Given the description of an element on the screen output the (x, y) to click on. 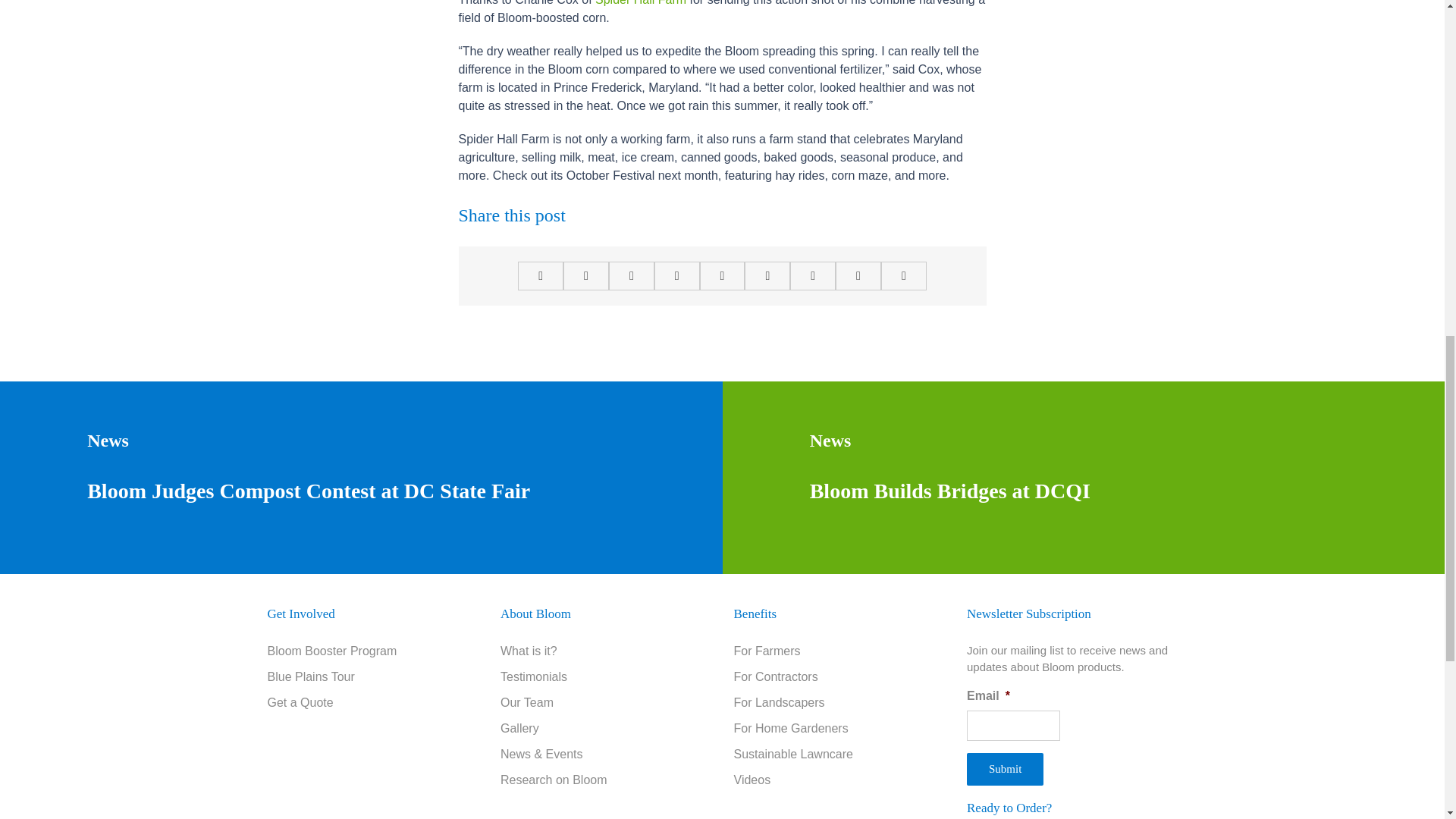
Submit (1004, 768)
LinkedIn (630, 275)
Spider Hall Farm (640, 2)
Facebook (540, 275)
Twitter (585, 275)
Tumblr (767, 275)
Reddit (676, 275)
Pinterest (812, 275)
Facebook (540, 275)
Email (903, 275)
